Given the description of an element on the screen output the (x, y) to click on. 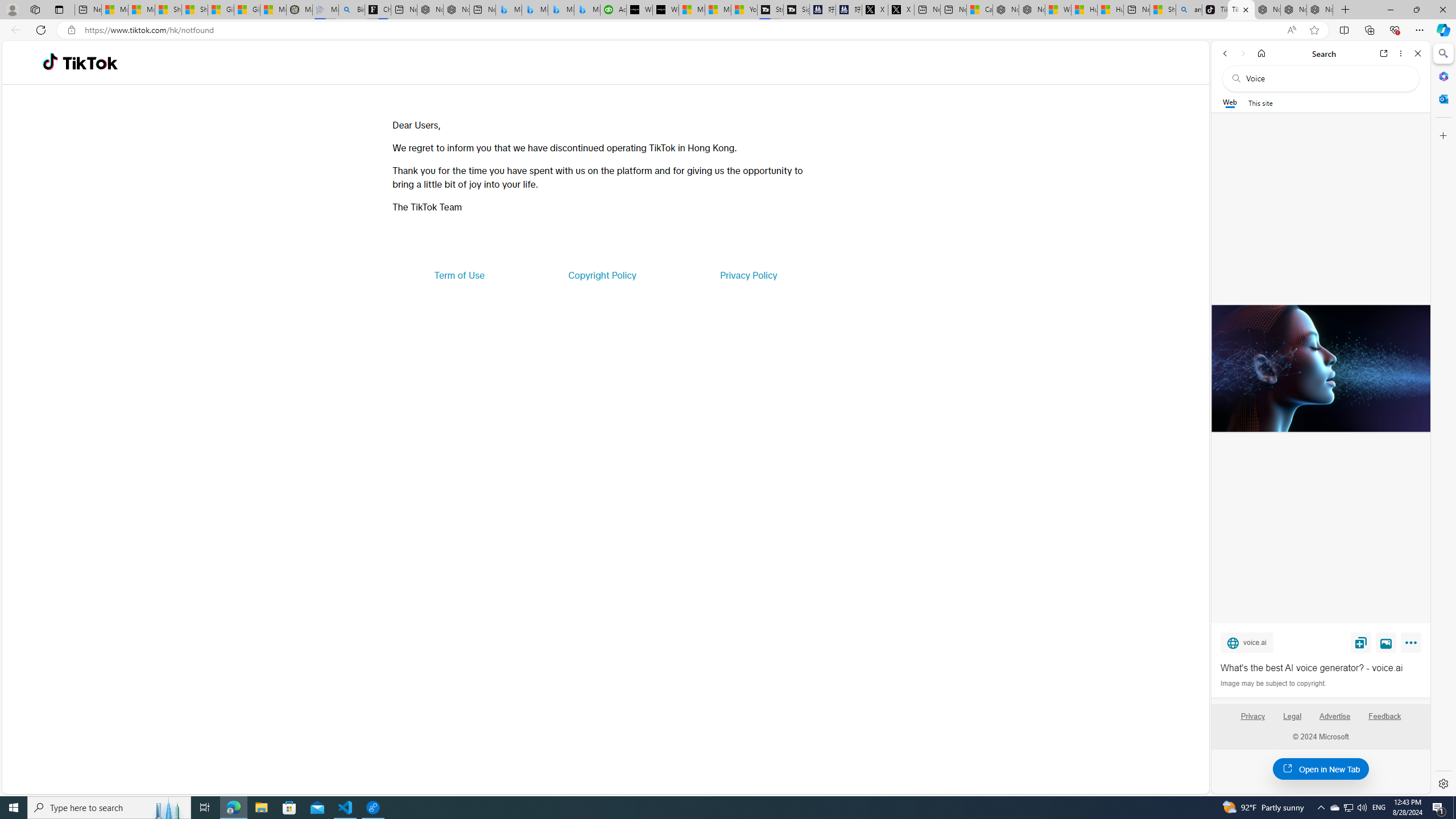
Save (1361, 642)
Manatee Mortality Statistics | FWC (299, 9)
TikTok (1241, 9)
Term of Use (458, 274)
Privacy (1252, 720)
This site scope (1259, 102)
